Given the description of an element on the screen output the (x, y) to click on. 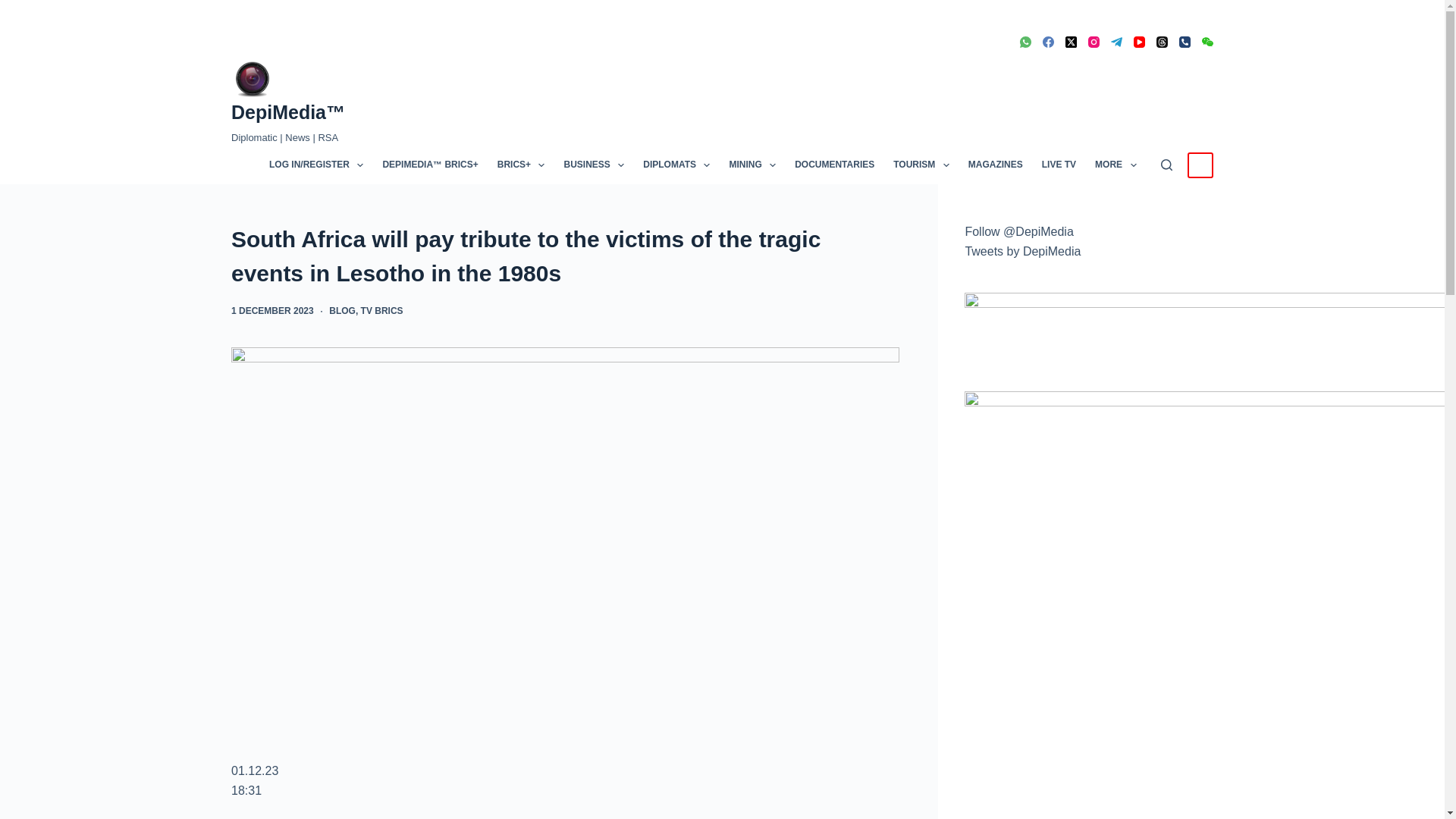
Skip to content (15, 7)
